Given the description of an element on the screen output the (x, y) to click on. 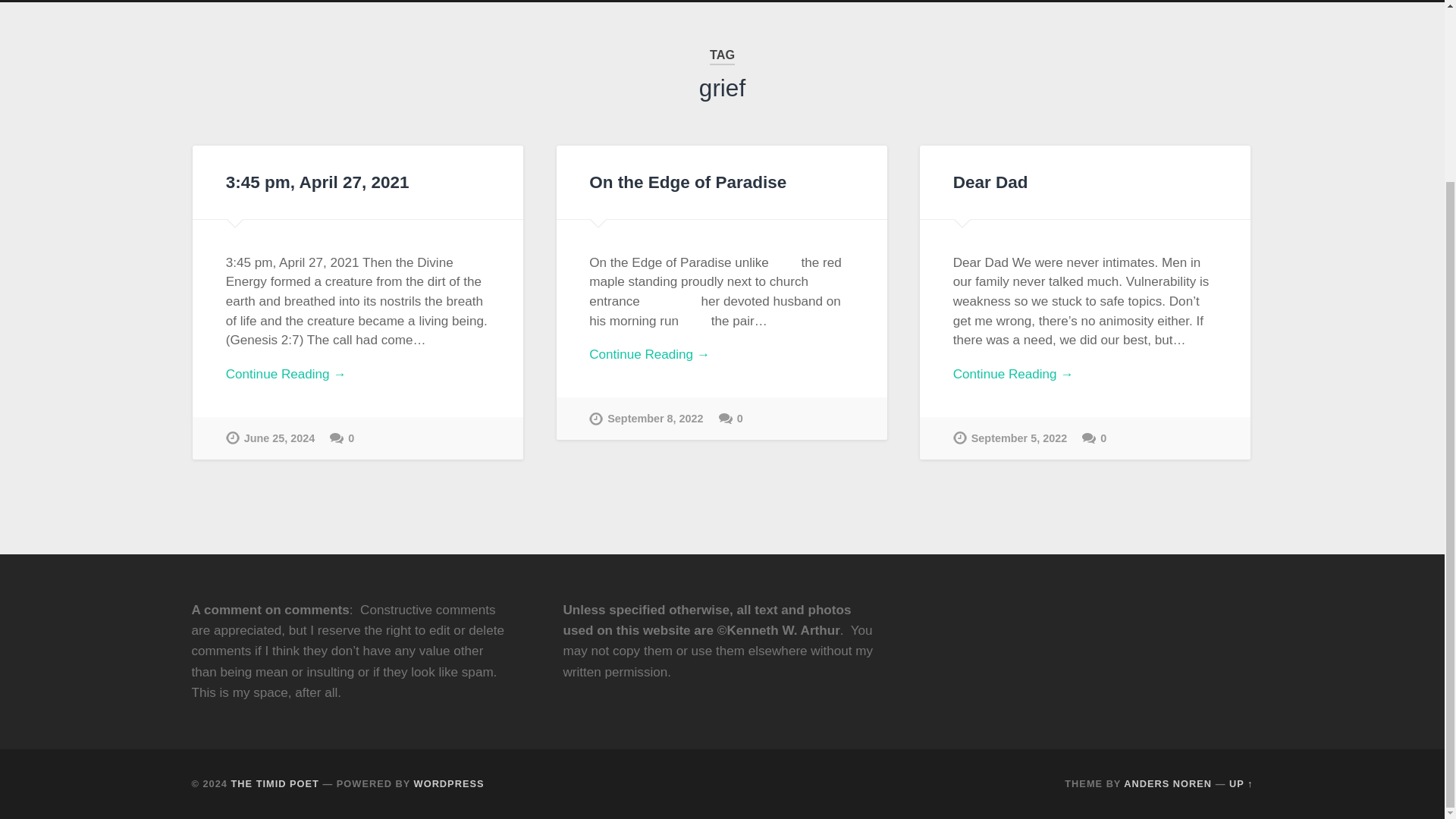
June 25, 2024 (270, 437)
HOME (228, 1)
POETRY (411, 1)
NEWSLETTER (620, 1)
On the Edge of Paradise (687, 181)
3:45 pm, April 27, 2021 (317, 181)
BOOKS (511, 1)
BROWSE (312, 1)
ABOUT (721, 1)
CONTACT (810, 1)
